Given the description of an element on the screen output the (x, y) to click on. 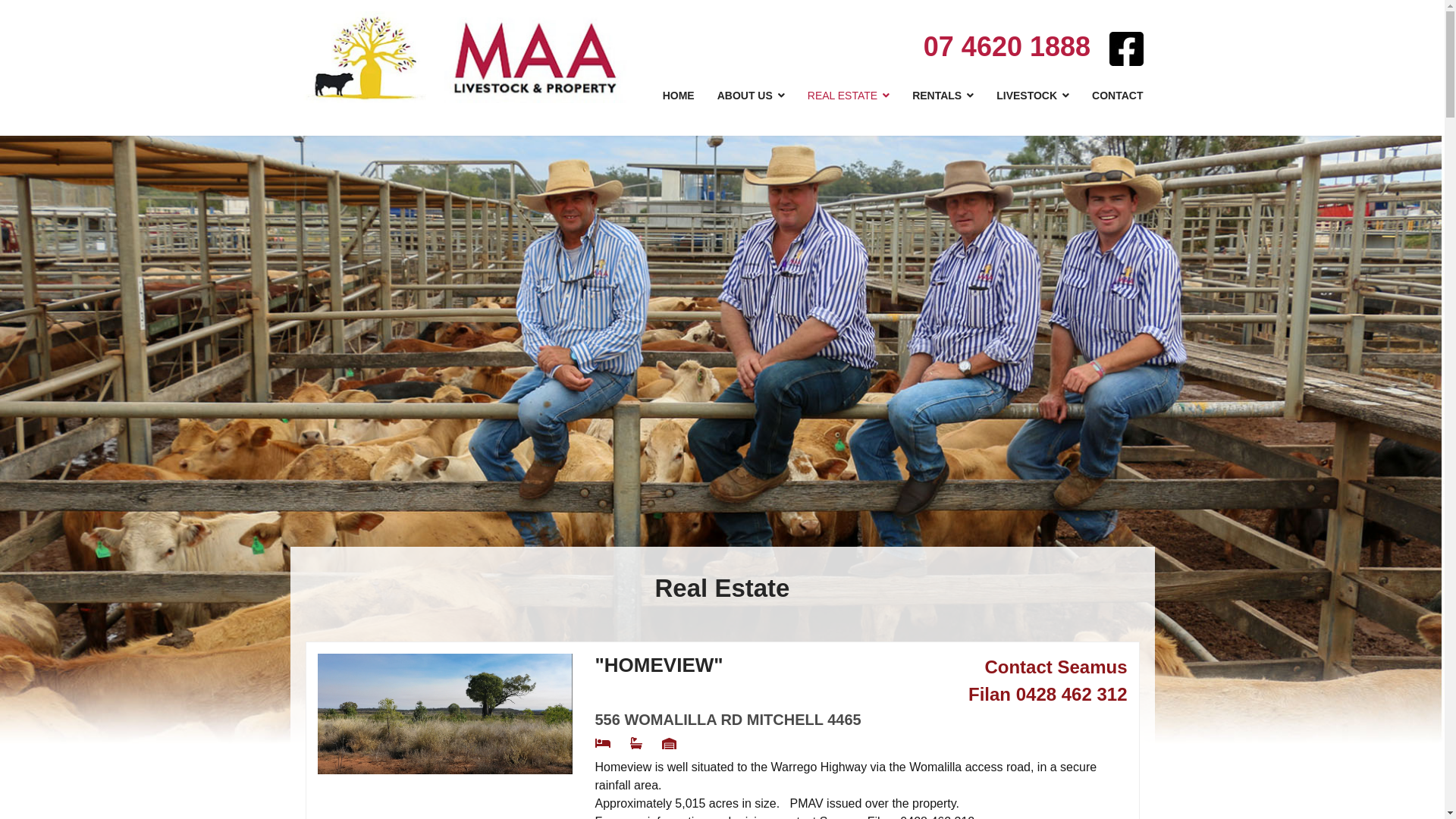
RENTALS Element type: text (942, 95)
LIVESTOCK Element type: text (1032, 95)
REAL ESTATE Element type: text (848, 95)
CONTACT Element type: text (1117, 95)
ABOUT US Element type: text (751, 95)
07 4620 1888 Element type: text (1006, 46)
HOME Element type: text (678, 95)
View on RealEstate.com Element type: hover (443, 713)
